Given the description of an element on the screen output the (x, y) to click on. 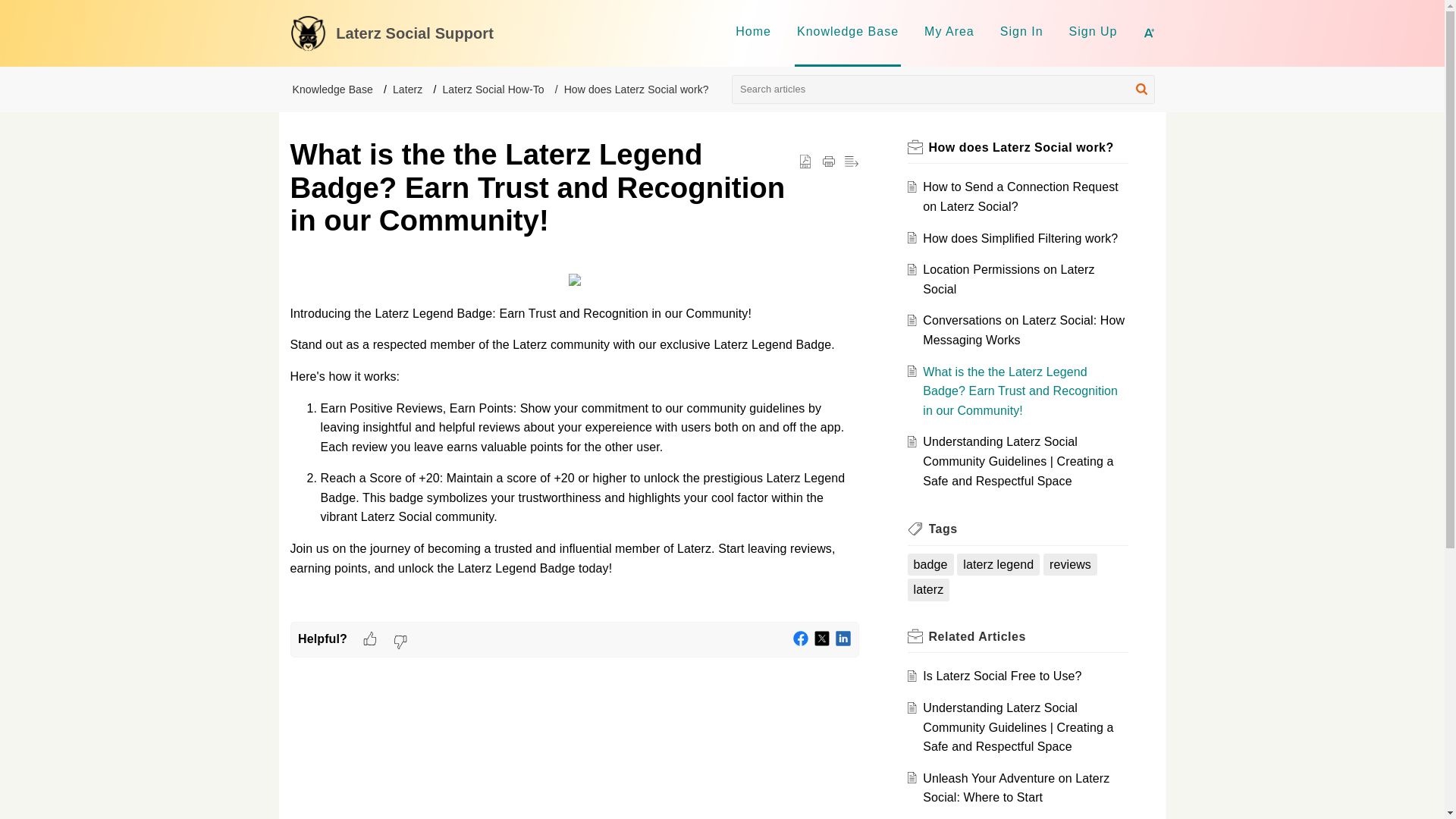
How does Simplified Filtering work? (1020, 237)
Laterz (408, 89)
Laterz Social Support (529, 33)
Knowledge Base (847, 31)
Facebook (800, 638)
Twitter (821, 638)
Knowledge Base (332, 89)
Conversations on Laterz Social: How Messaging Works (1023, 329)
Home (753, 31)
laterz (927, 589)
LinkedIn (842, 638)
How does Laterz Social work? (1020, 146)
Unleash Your Adventure on Laterz Social: Where to Start (1016, 788)
laterz legend (997, 564)
Location Permissions on Laterz Social (1008, 278)
